Given the description of an element on the screen output the (x, y) to click on. 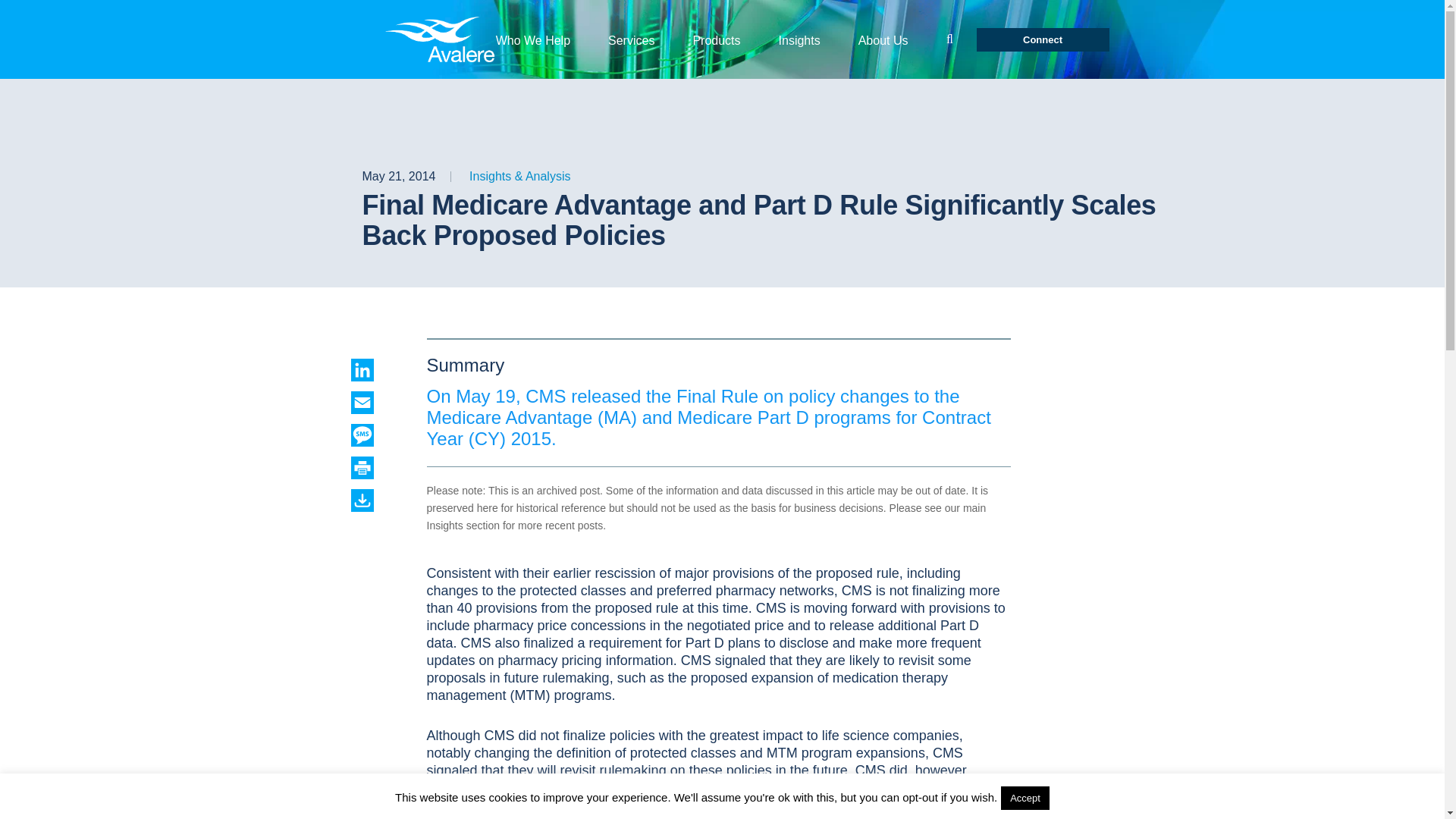
Who We Help (533, 39)
Submit (949, 39)
Avalere (442, 39)
LinkedIn (376, 369)
Products (715, 39)
About Us (883, 39)
Message (376, 435)
Email (376, 402)
Connect (1042, 39)
Services (630, 39)
Insights (800, 39)
